Given the description of an element on the screen output the (x, y) to click on. 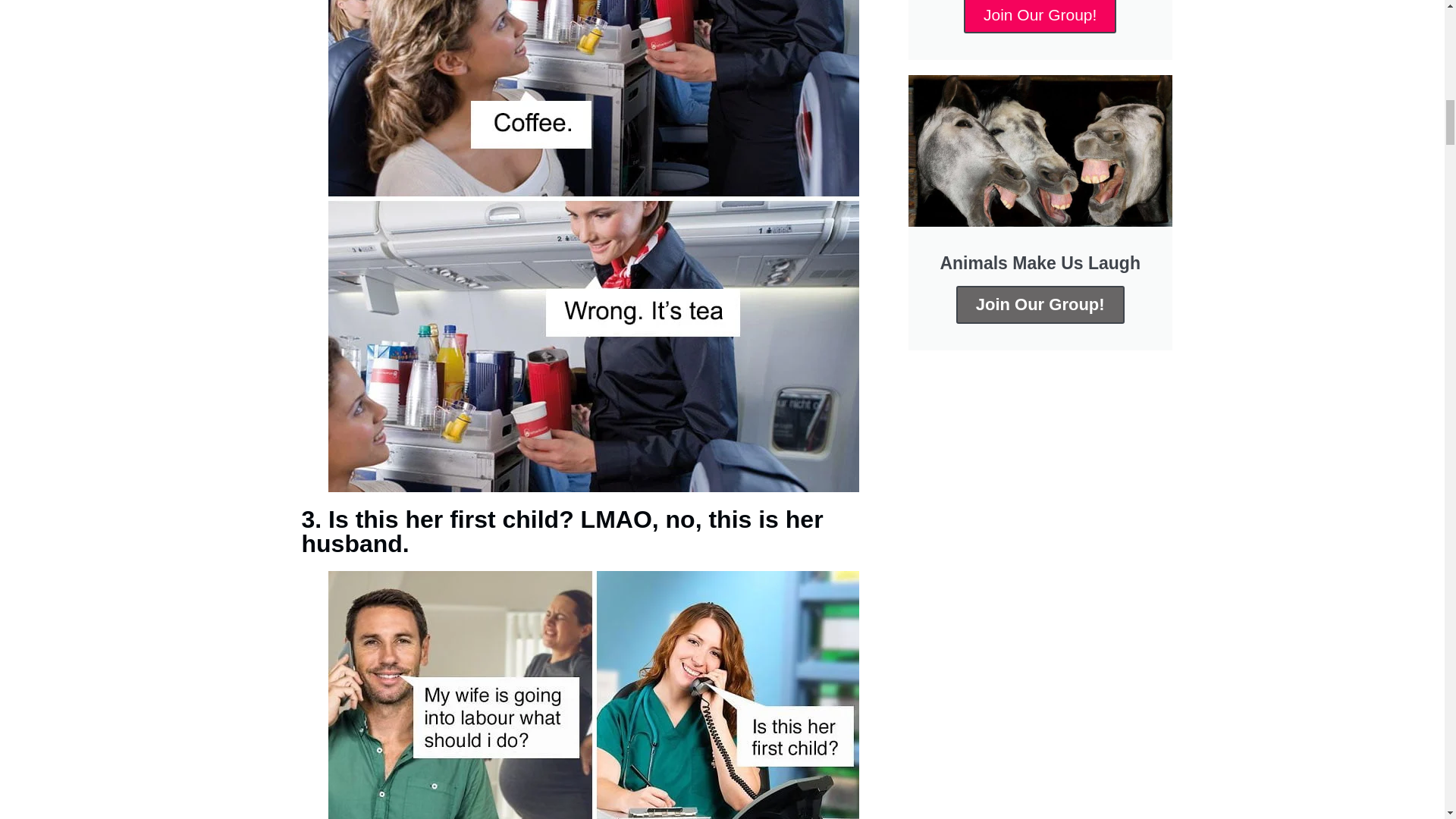
Join Our Group! (1040, 304)
Join Our Group! (1039, 16)
